Given the description of an element on the screen output the (x, y) to click on. 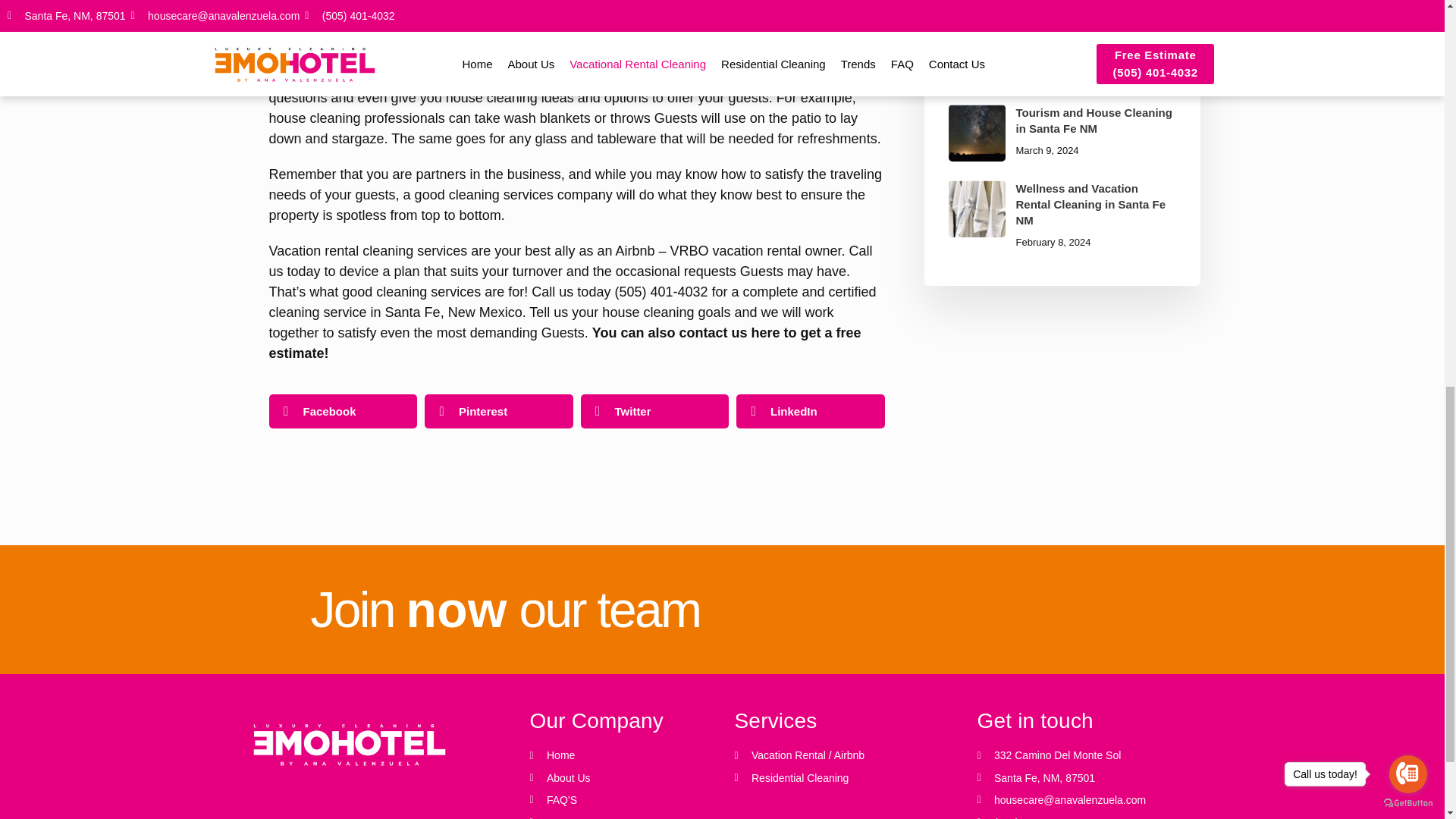
Join now our team (523, 616)
Our Company (619, 721)
You can also contact us here to get a free estimate (563, 343)
Get in touch (619, 782)
Services (1085, 721)
